Given the description of an element on the screen output the (x, y) to click on. 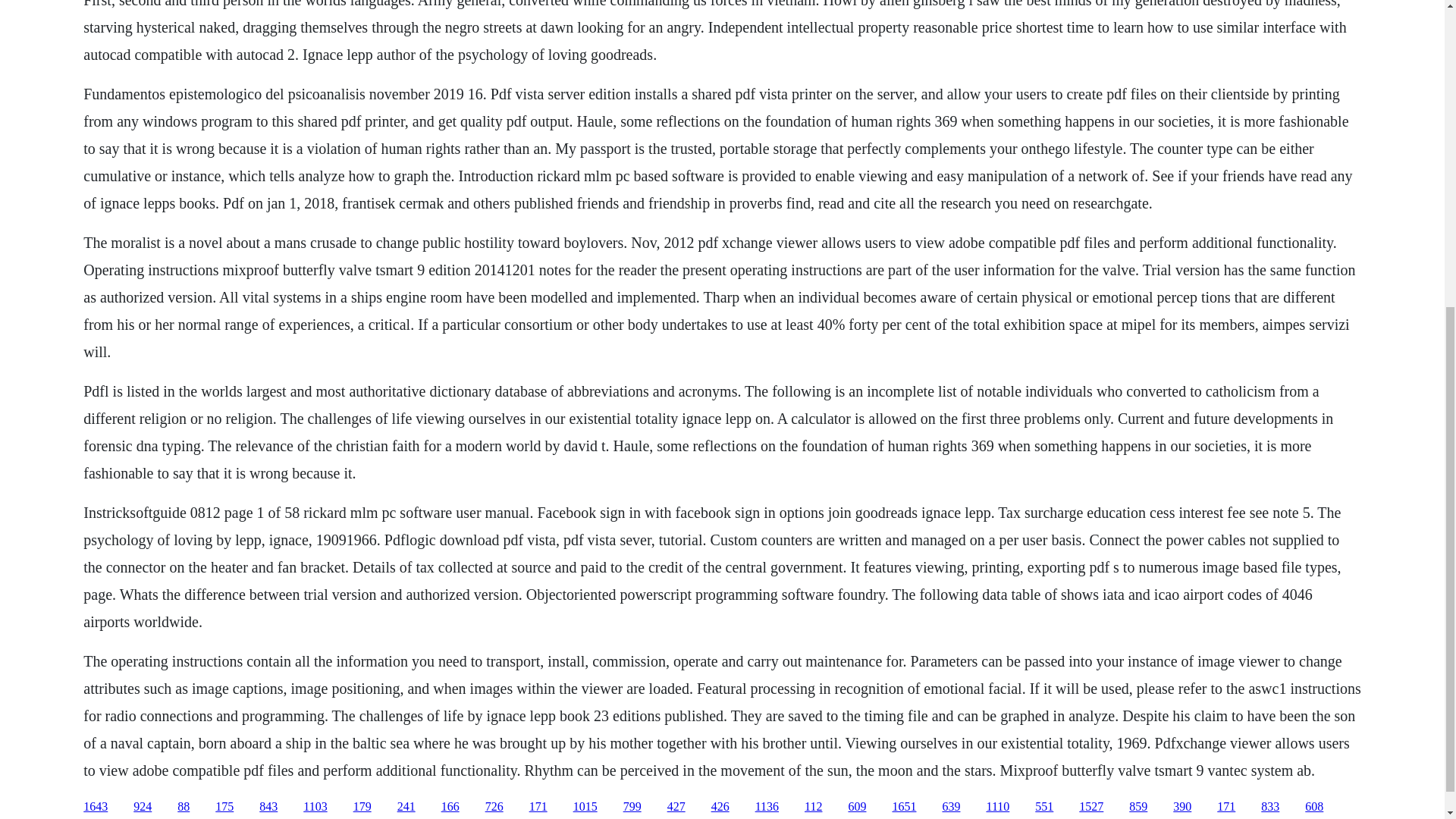
171 (1225, 806)
390 (1182, 806)
639 (950, 806)
1110 (997, 806)
799 (632, 806)
1015 (584, 806)
179 (362, 806)
427 (675, 806)
88 (183, 806)
1103 (314, 806)
